Given the description of an element on the screen output the (x, y) to click on. 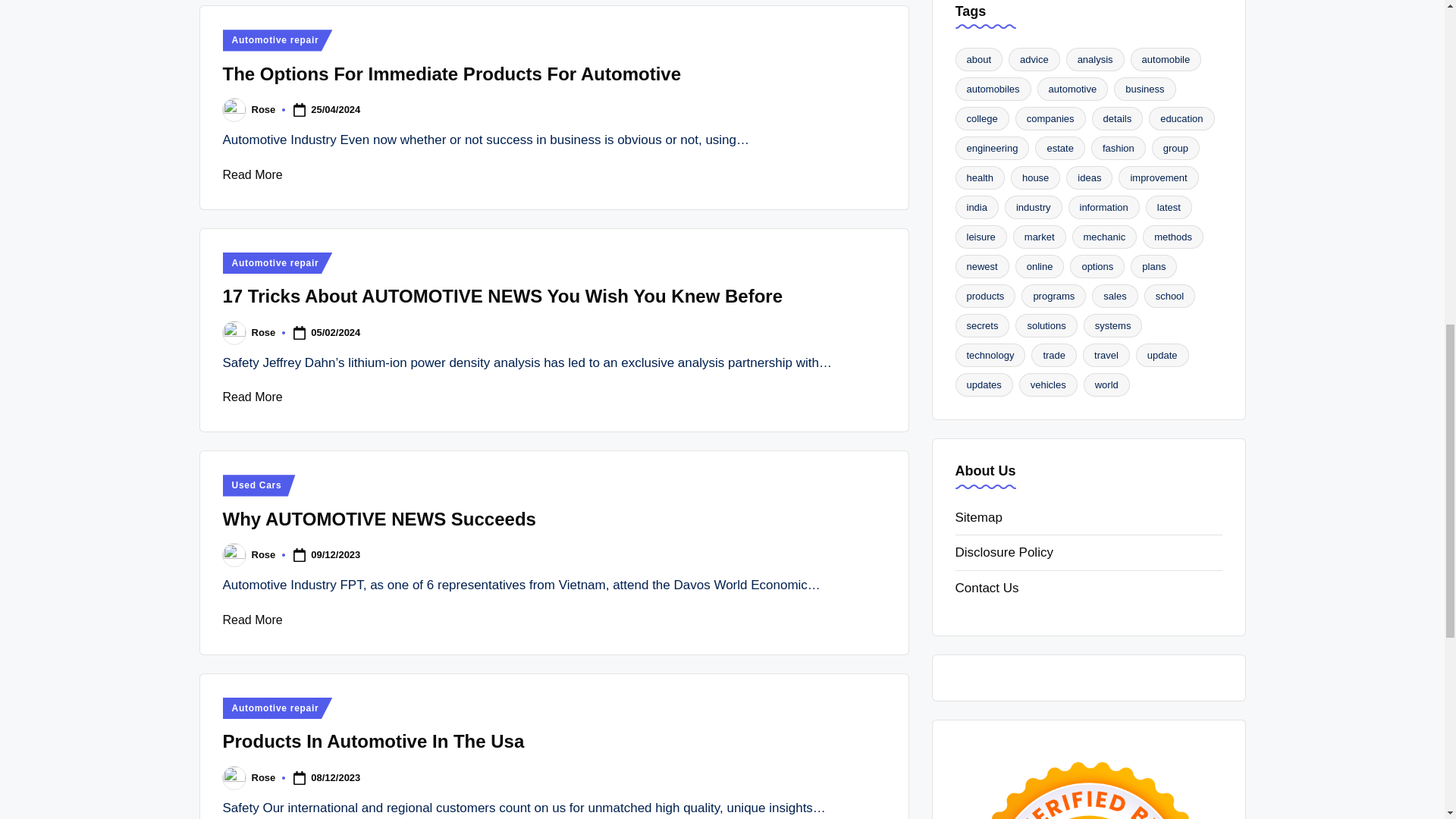
Automotive repair (277, 39)
View all posts by Rose (263, 554)
View all posts by Rose (263, 109)
View all posts by Rose (263, 777)
Why AUTOMOTIVE NEWS Succeeds (378, 518)
Read More (252, 174)
Rose (263, 109)
17 Tricks About AUTOMOTIVE NEWS You Wish You Knew Before (502, 295)
The Options For Immediate Products For Automotive (451, 73)
Automotive repair (277, 262)
